Given the description of an element on the screen output the (x, y) to click on. 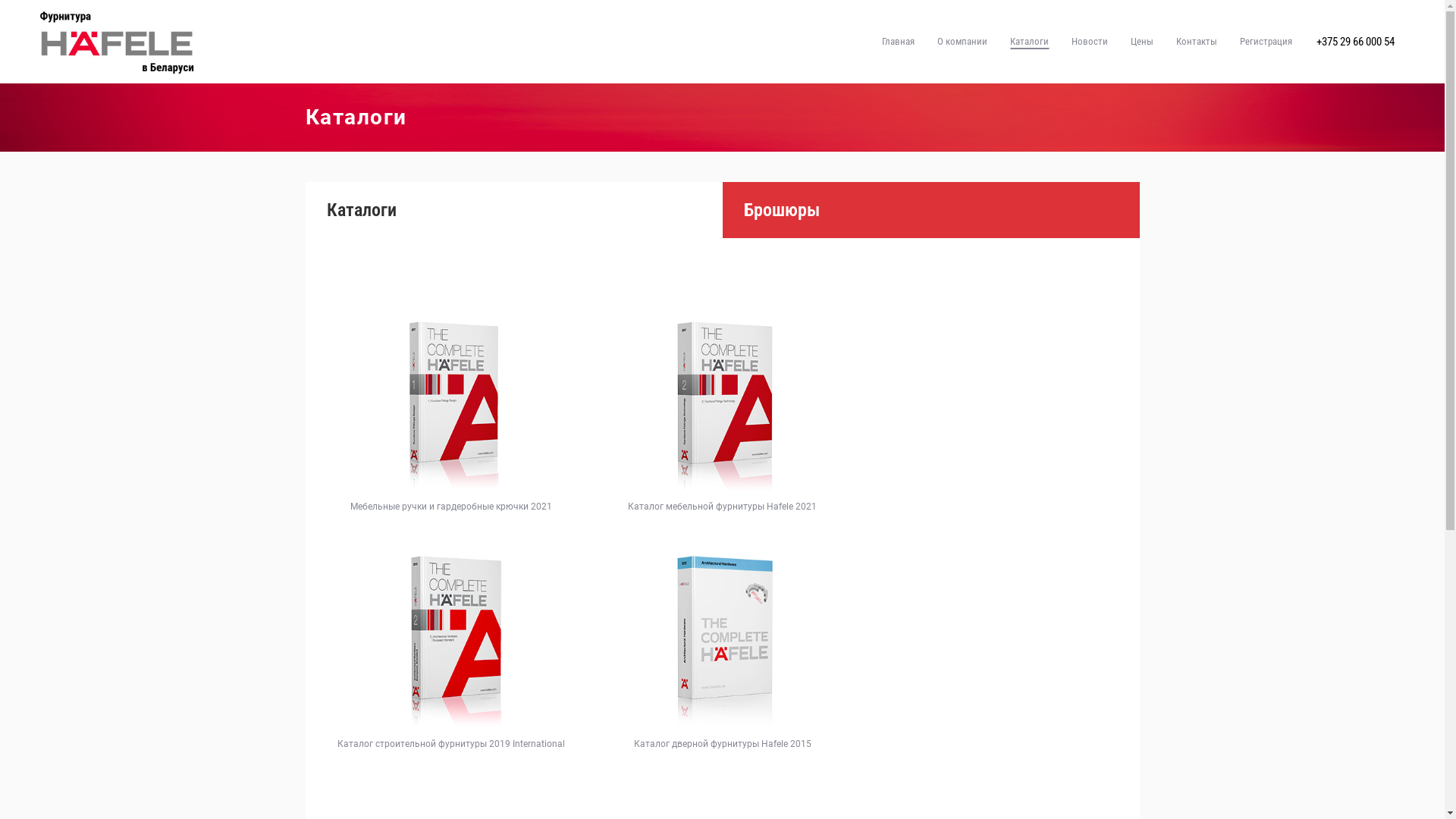
+375 29 66 000 54 Element type: text (1355, 41)
